Given the description of an element on the screen output the (x, y) to click on. 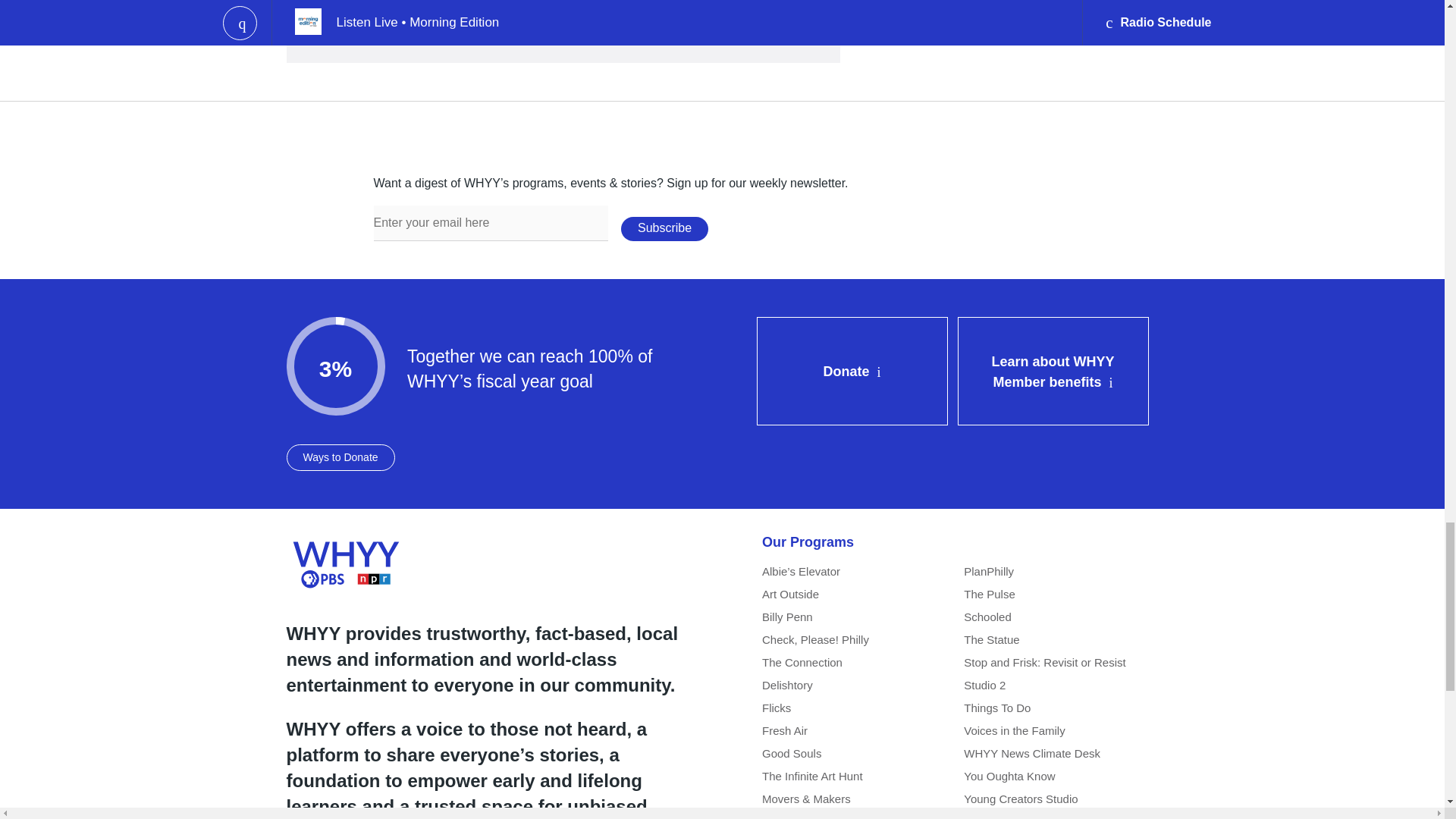
Subscribe (664, 228)
